Given the description of an element on the screen output the (x, y) to click on. 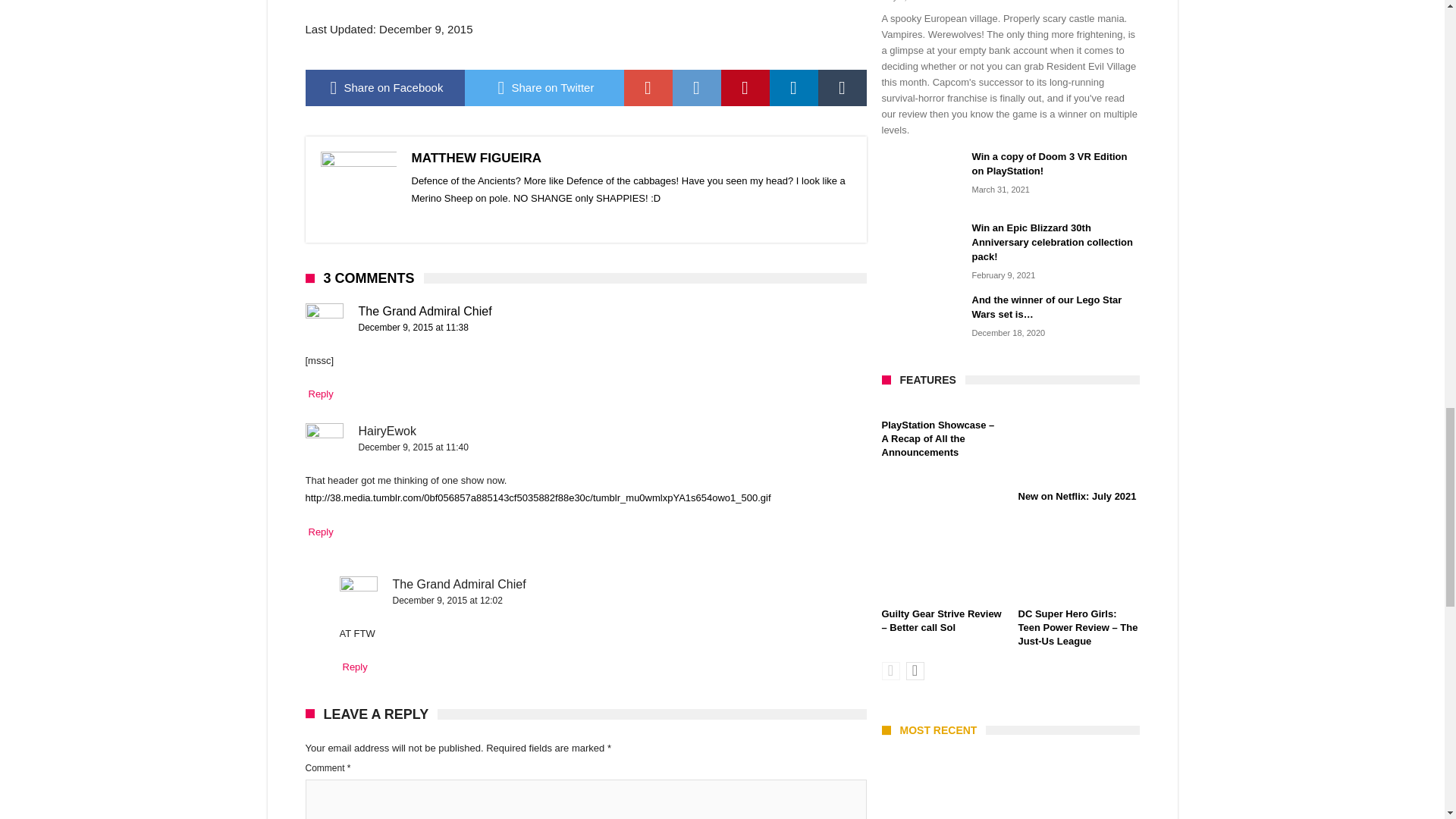
Share on Reddit (695, 87)
Share on Facebook (384, 87)
Share on Linkedin (792, 87)
Share on Tumblr (841, 87)
Share on Twitter (543, 87)
Share on Pinterest (744, 87)
